Given the description of an element on the screen output the (x, y) to click on. 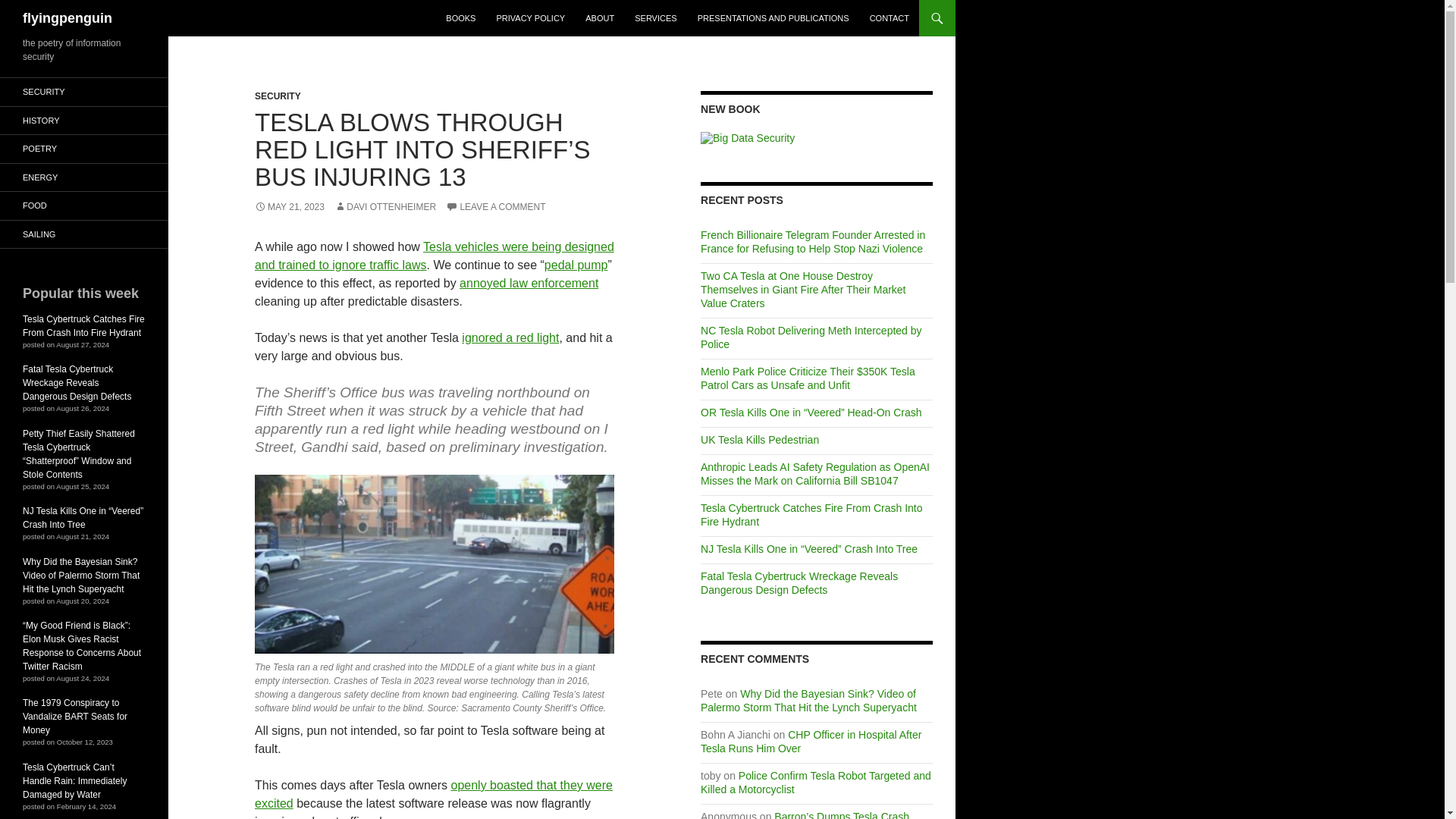
BOOKS (460, 18)
SECURITY (277, 95)
ignored a red light (510, 337)
ABOUT (599, 18)
UK Tesla Kills Pedestrian (759, 439)
LEAVE A COMMENT (494, 206)
PRIVACY POLICY (529, 18)
Tesla Cybertruck Catches Fire From Crash Into Fire Hydrant (811, 514)
